Given the description of an element on the screen output the (x, y) to click on. 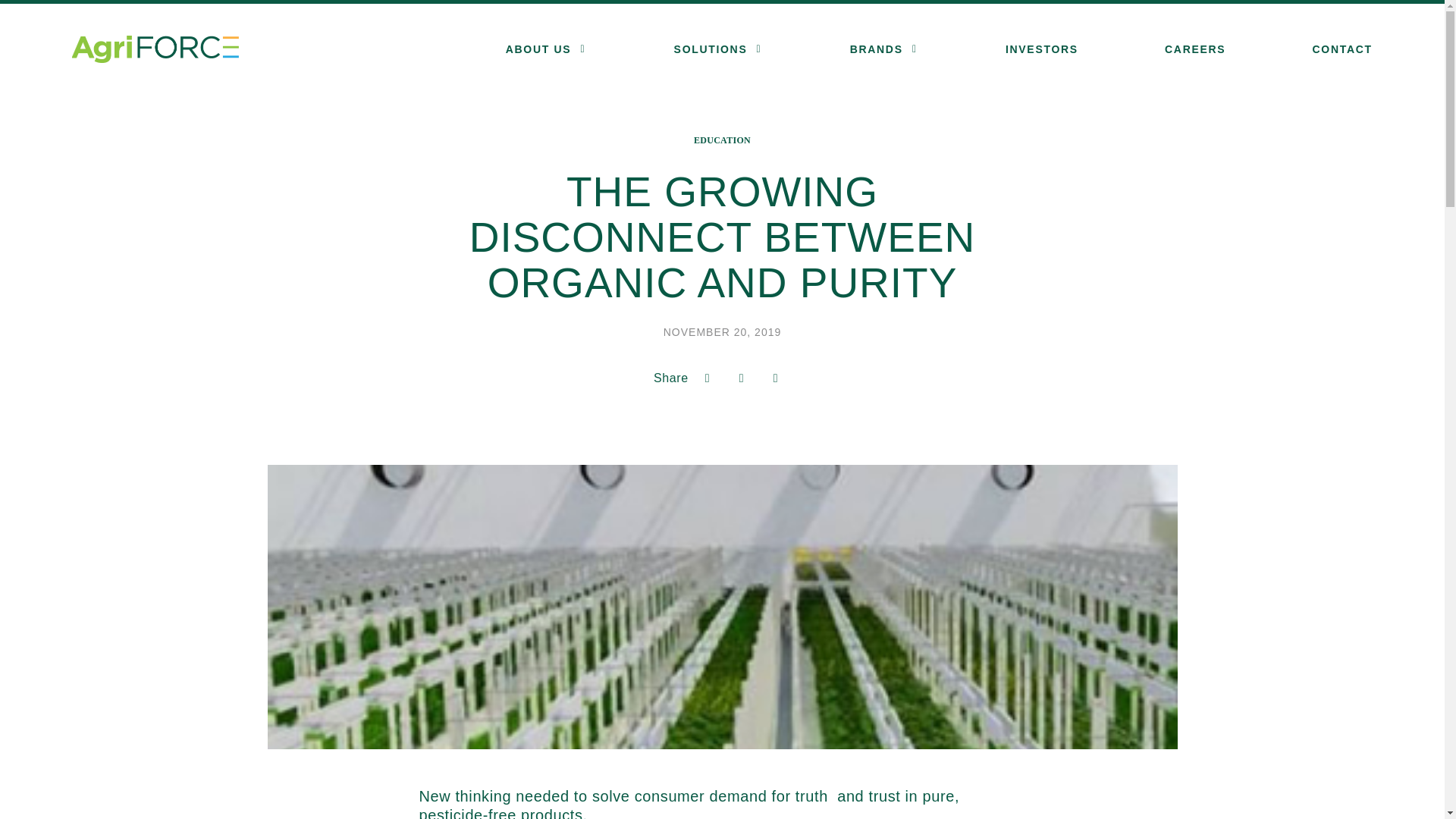
CAREERS (1194, 48)
EDUCATION (722, 140)
BRANDS (876, 48)
ABOUT US (538, 48)
CONTACT (1343, 48)
AgriFORCE (154, 49)
SOLUTIONS (711, 48)
INVESTORS (1042, 48)
